Given the description of an element on the screen output the (x, y) to click on. 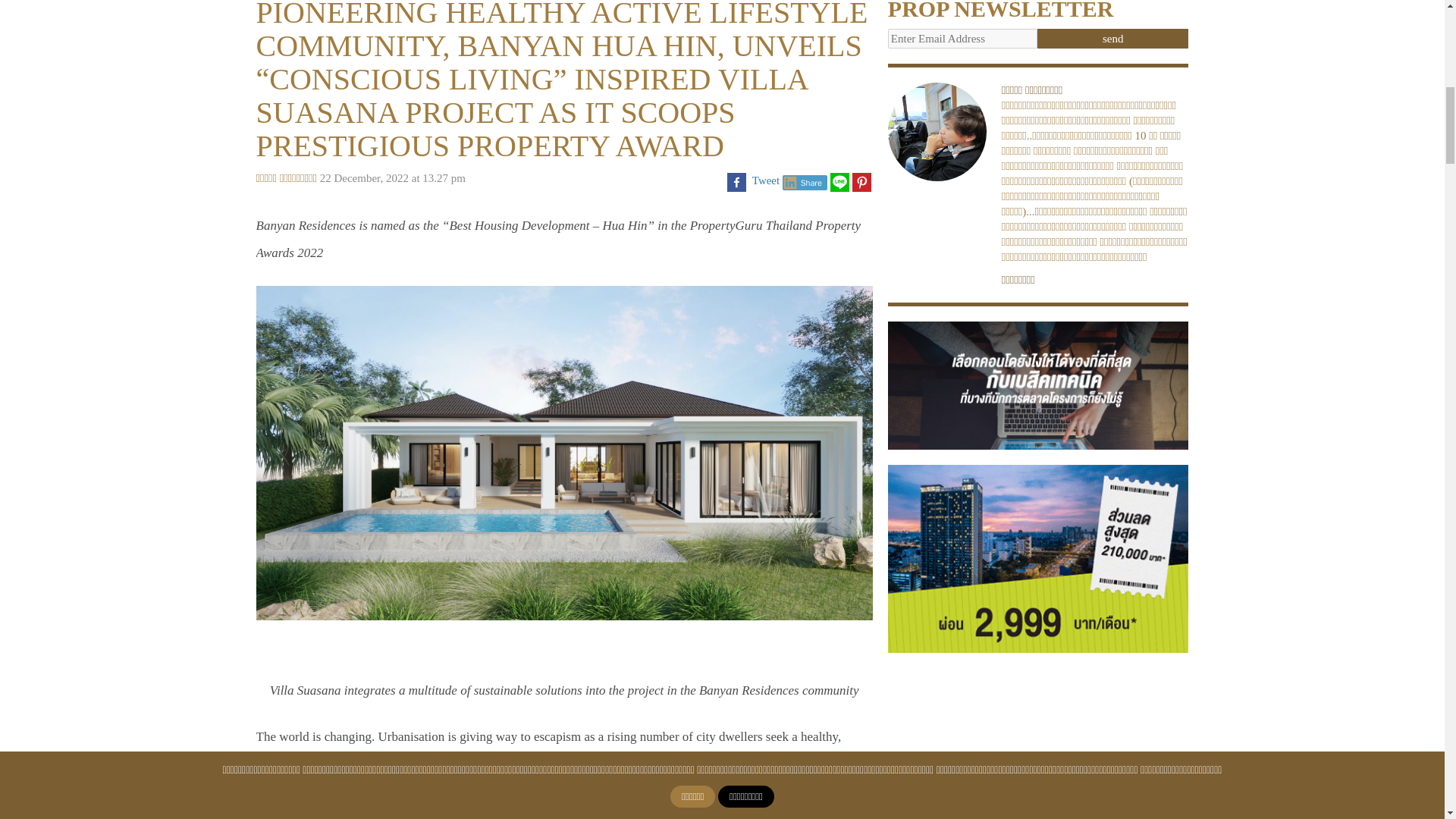
Line (838, 181)
Facebook (735, 181)
Share (805, 182)
Pinterest (860, 181)
send (1112, 38)
Banyan Hua Hin (561, 777)
Share (805, 181)
send (1112, 38)
Tweet (765, 180)
